Given the description of an element on the screen output the (x, y) to click on. 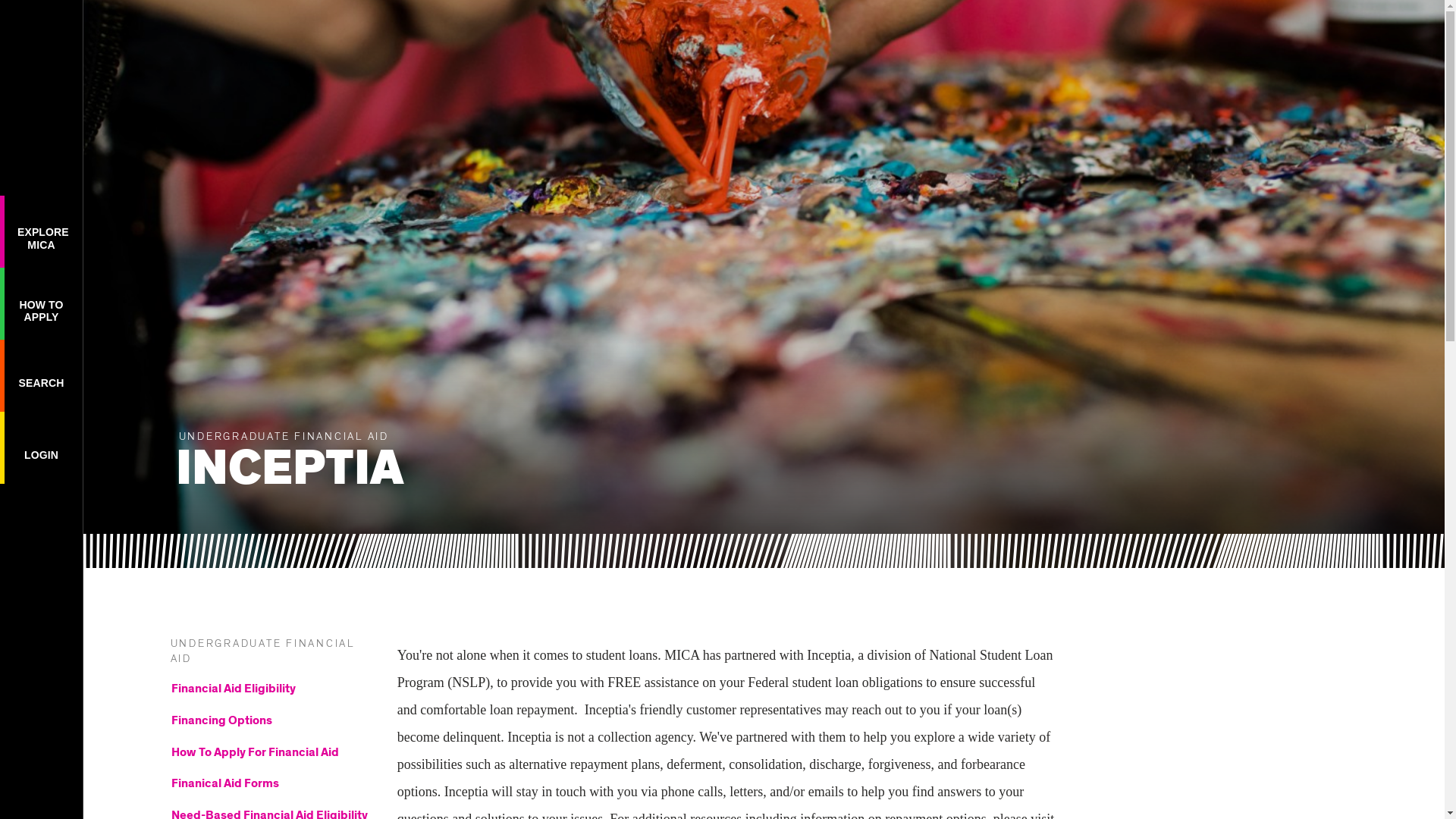
Financial Aid Eligibility (270, 691)
Financing Options (270, 722)
SEARCH (41, 375)
UNDERGRADUATE FINANCIAL AID (262, 651)
How To Apply For Financial Aid (270, 754)
MICA (40, 31)
Finanical Aid Forms (41, 231)
Need-Based Financial Aid Eligibility (270, 785)
LOGIN (270, 812)
